Given the description of an element on the screen output the (x, y) to click on. 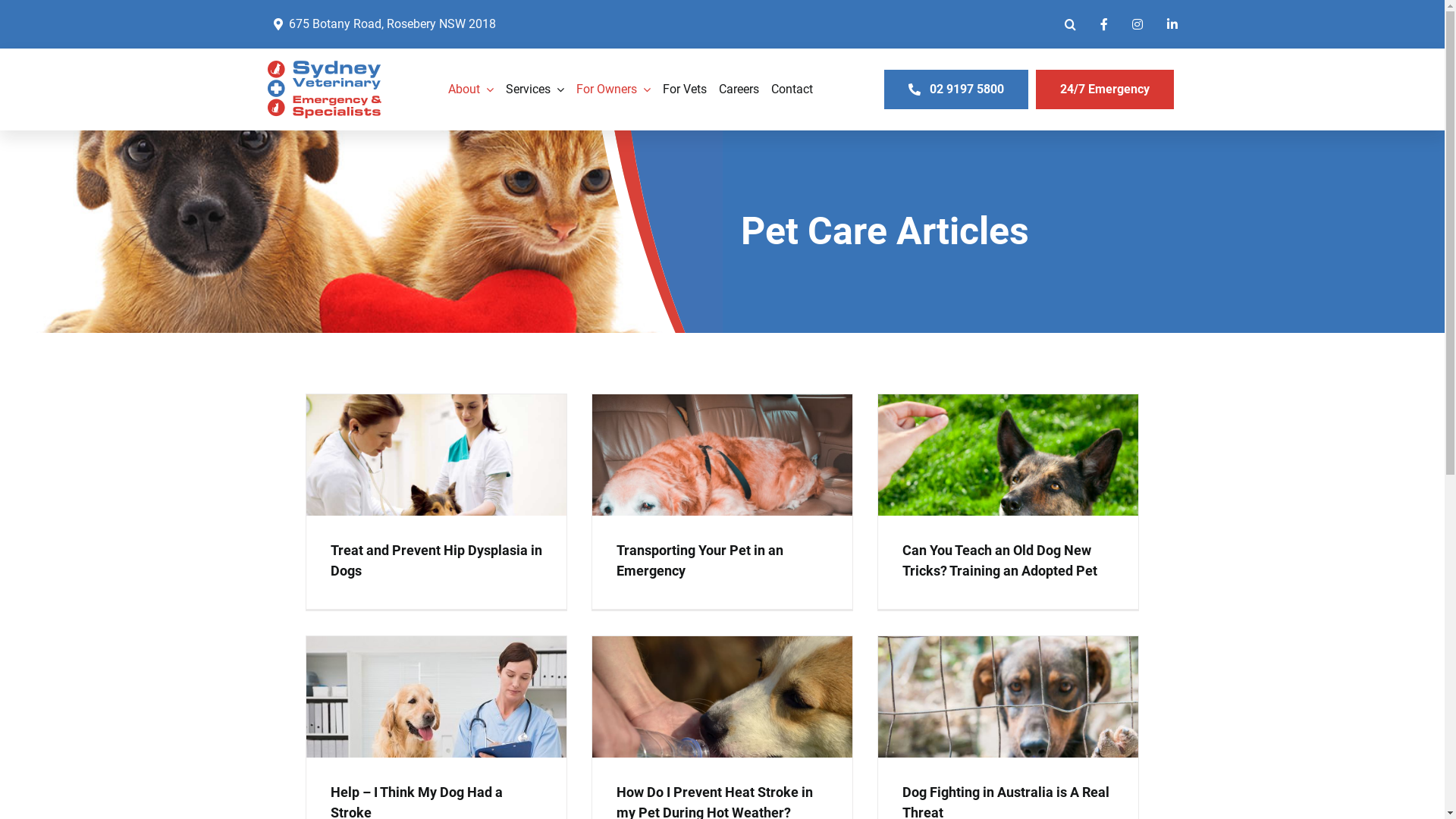
About Element type: text (470, 89)
For Vets Element type: text (684, 89)
Transporting Your Pet in an Emergency Element type: text (698, 560)
Contact Element type: text (791, 89)
675 Botany Road, Rosebery NSW 2018 Element type: text (380, 24)
24/7 Emergency Element type: text (1104, 88)
For Owners Element type: text (613, 89)
02 9197 5800 Element type: text (955, 88)
Treat and Prevent Hip Dysplasia in Dogs Element type: text (436, 560)
Search Element type: hover (1070, 24)
Careers Element type: text (738, 89)
Services Element type: text (534, 89)
Can You Teach an Old Dog New Tricks? Training an Adopted Pet Element type: text (999, 560)
